Given the description of an element on the screen output the (x, y) to click on. 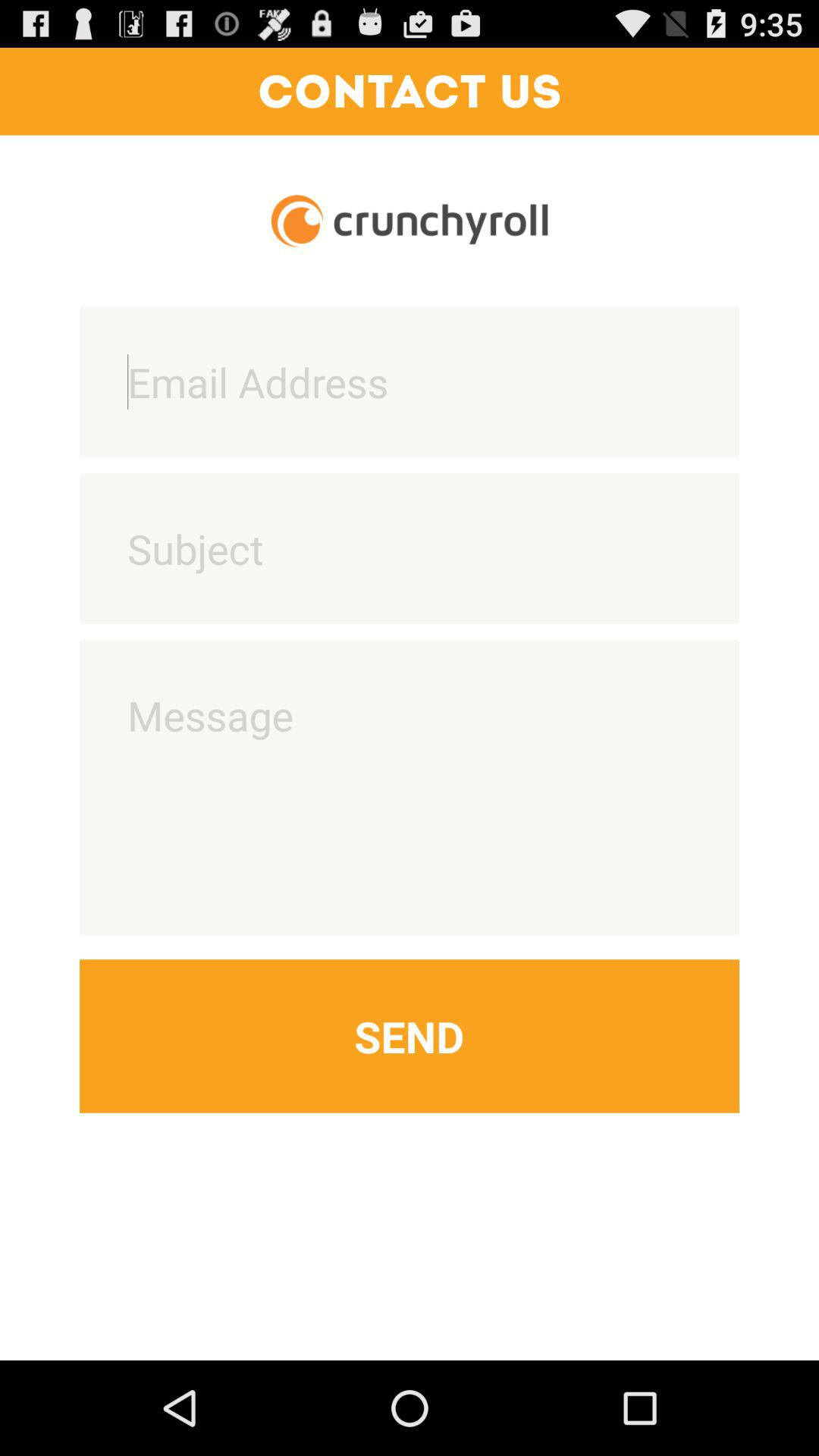
write message (409, 787)
